Given the description of an element on the screen output the (x, y) to click on. 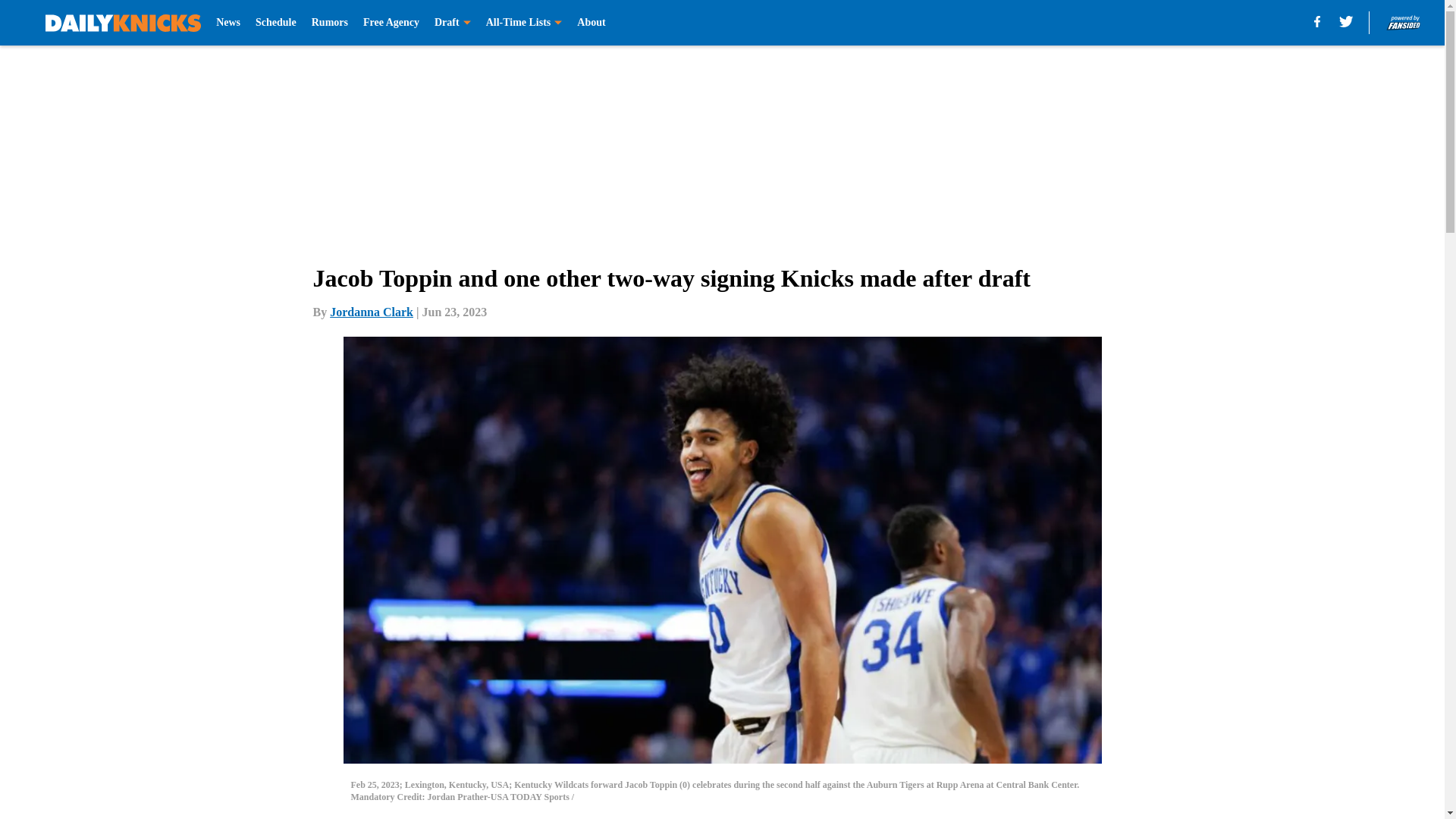
Schedule (276, 22)
Jordanna Clark (371, 311)
Rumors (329, 22)
News (227, 22)
Free Agency (390, 22)
Draft (451, 22)
All-Time Lists (524, 22)
About (590, 22)
